Given the description of an element on the screen output the (x, y) to click on. 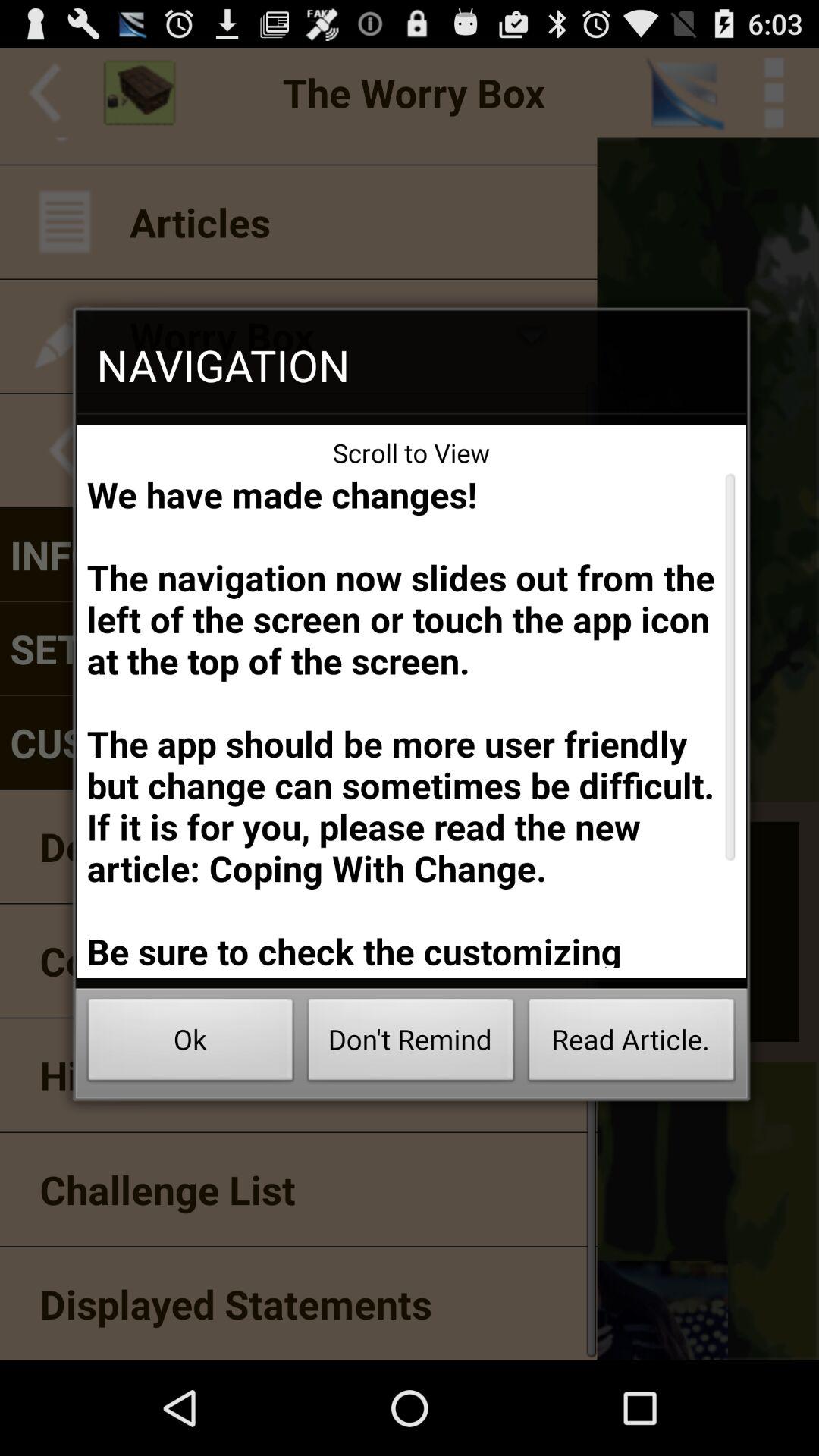
launch the read article. icon (631, 1044)
